Given the description of an element on the screen output the (x, y) to click on. 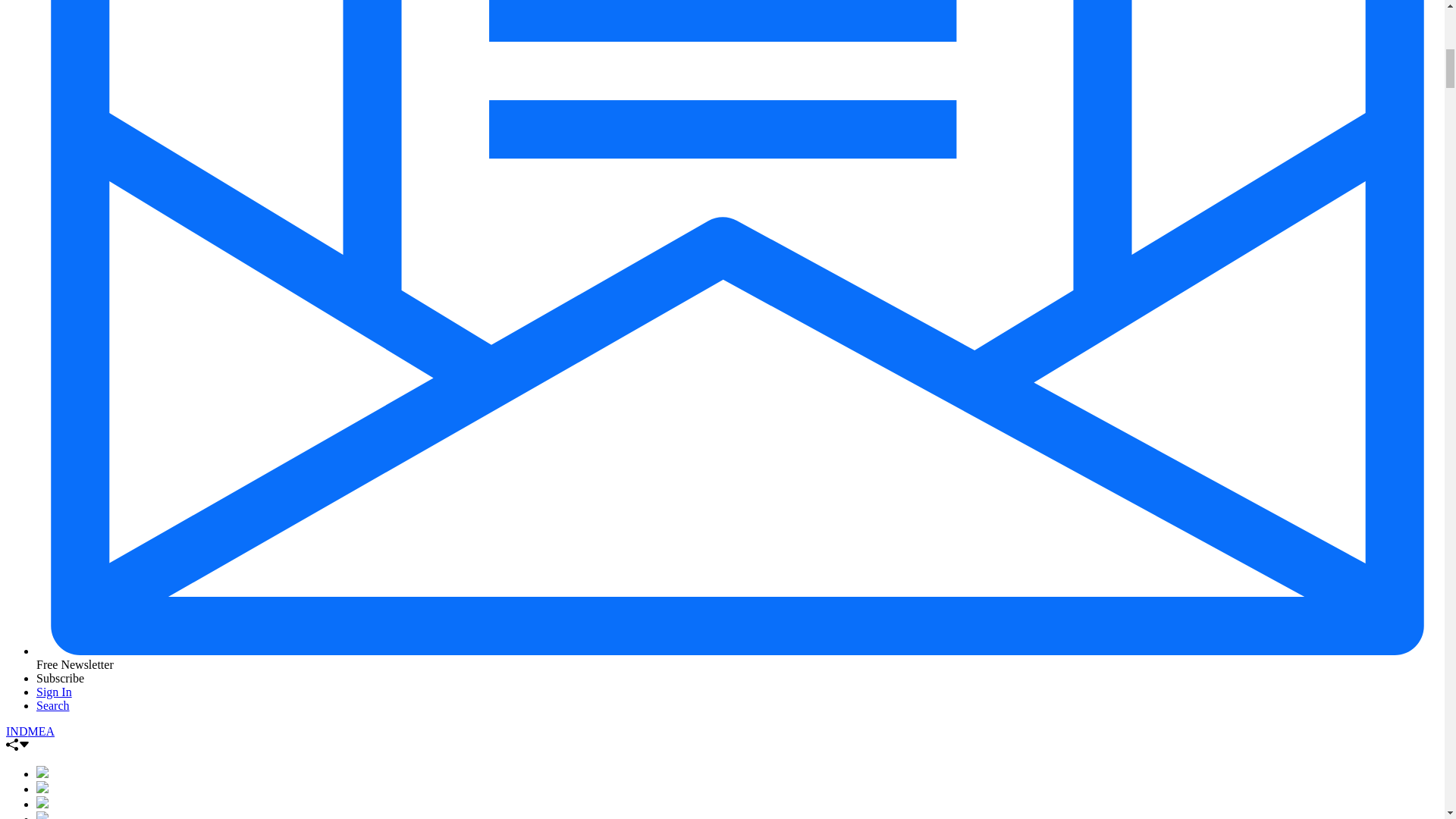
Subscribe (60, 677)
Sign In (53, 691)
MEA (41, 730)
IND (16, 730)
Search (52, 705)
